Given the description of an element on the screen output the (x, y) to click on. 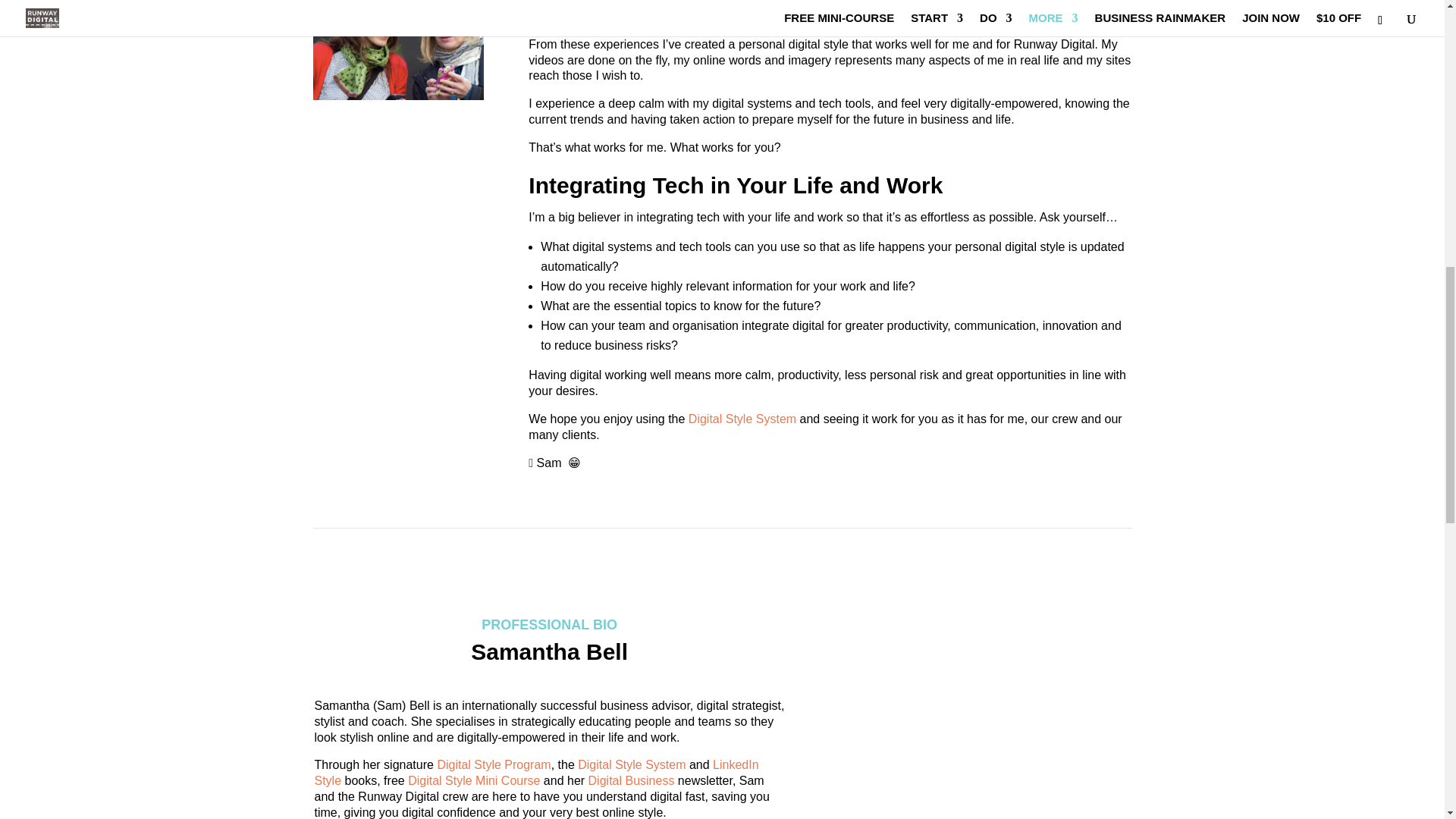
Digital Style System (631, 764)
LinkedIn Style (536, 772)
Digital Style System (742, 418)
Digital Business (631, 780)
Digital Style Program (493, 764)
Digital Style Mini Course (473, 780)
